Given the description of an element on the screen output the (x, y) to click on. 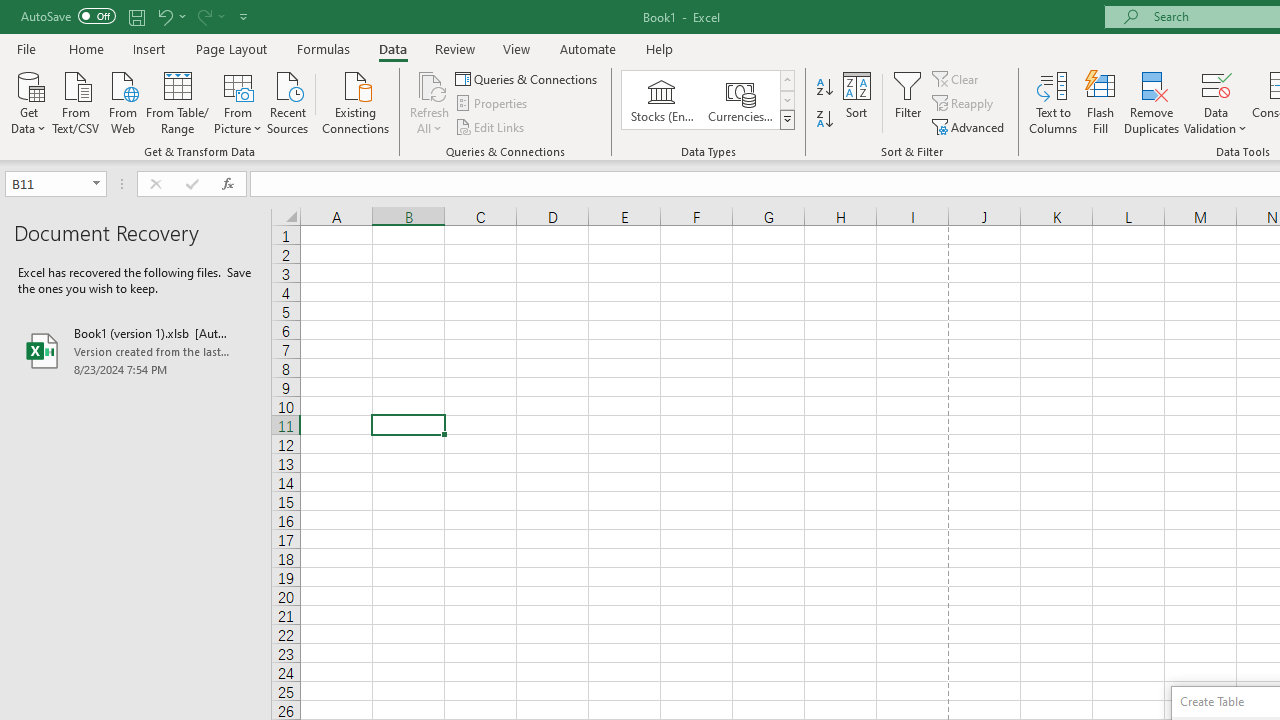
AutomationID: ConvertToLinkedEntity (708, 99)
From Text/CSV (75, 101)
Flash Fill (1101, 102)
From Picture (238, 101)
Reapply (964, 103)
Sort A to Z (824, 87)
Filter (908, 102)
Text to Columns... (1053, 102)
Properties (492, 103)
